Given the description of an element on the screen output the (x, y) to click on. 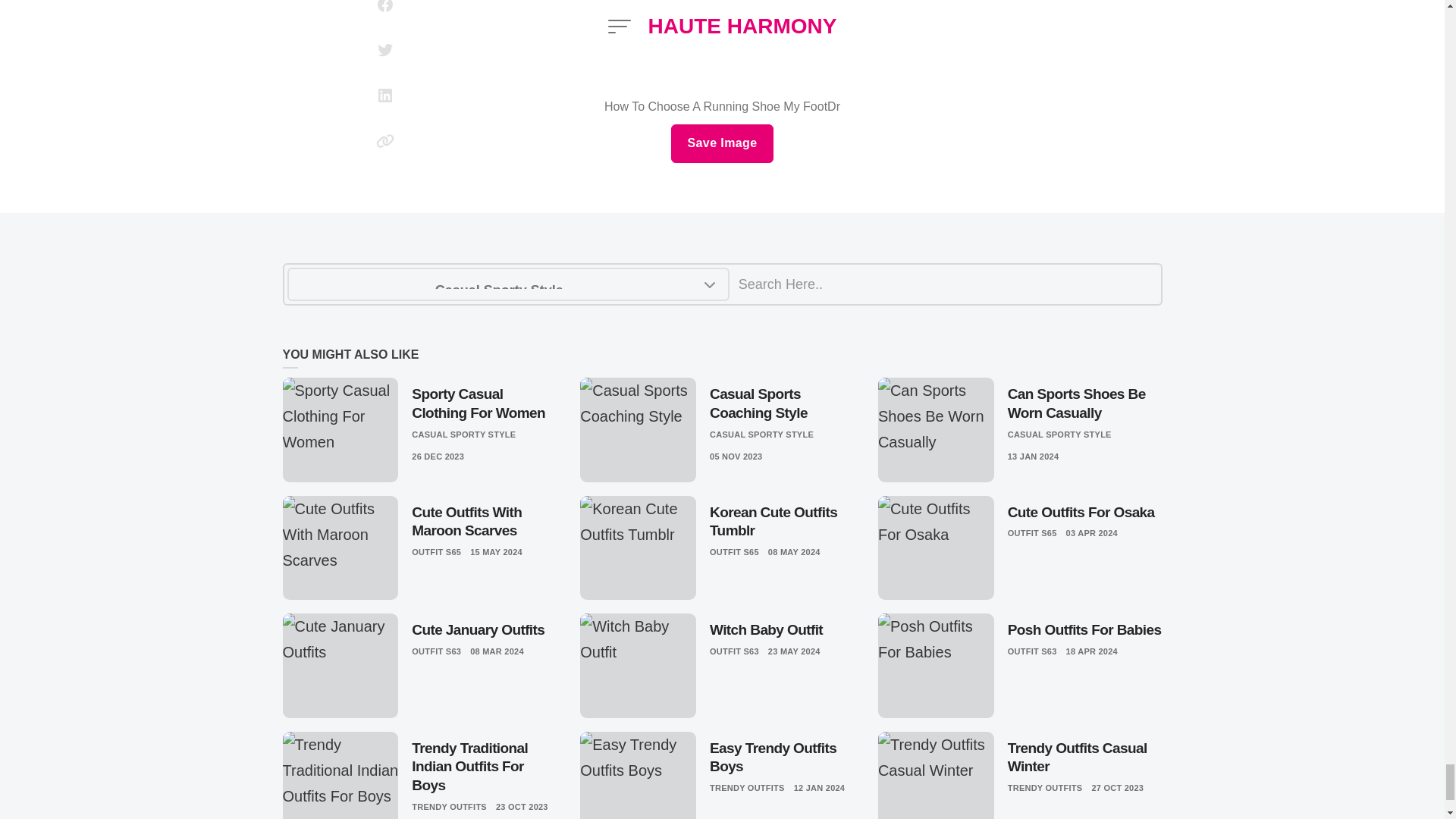
Save Image (722, 143)
